Given the description of an element on the screen output the (x, y) to click on. 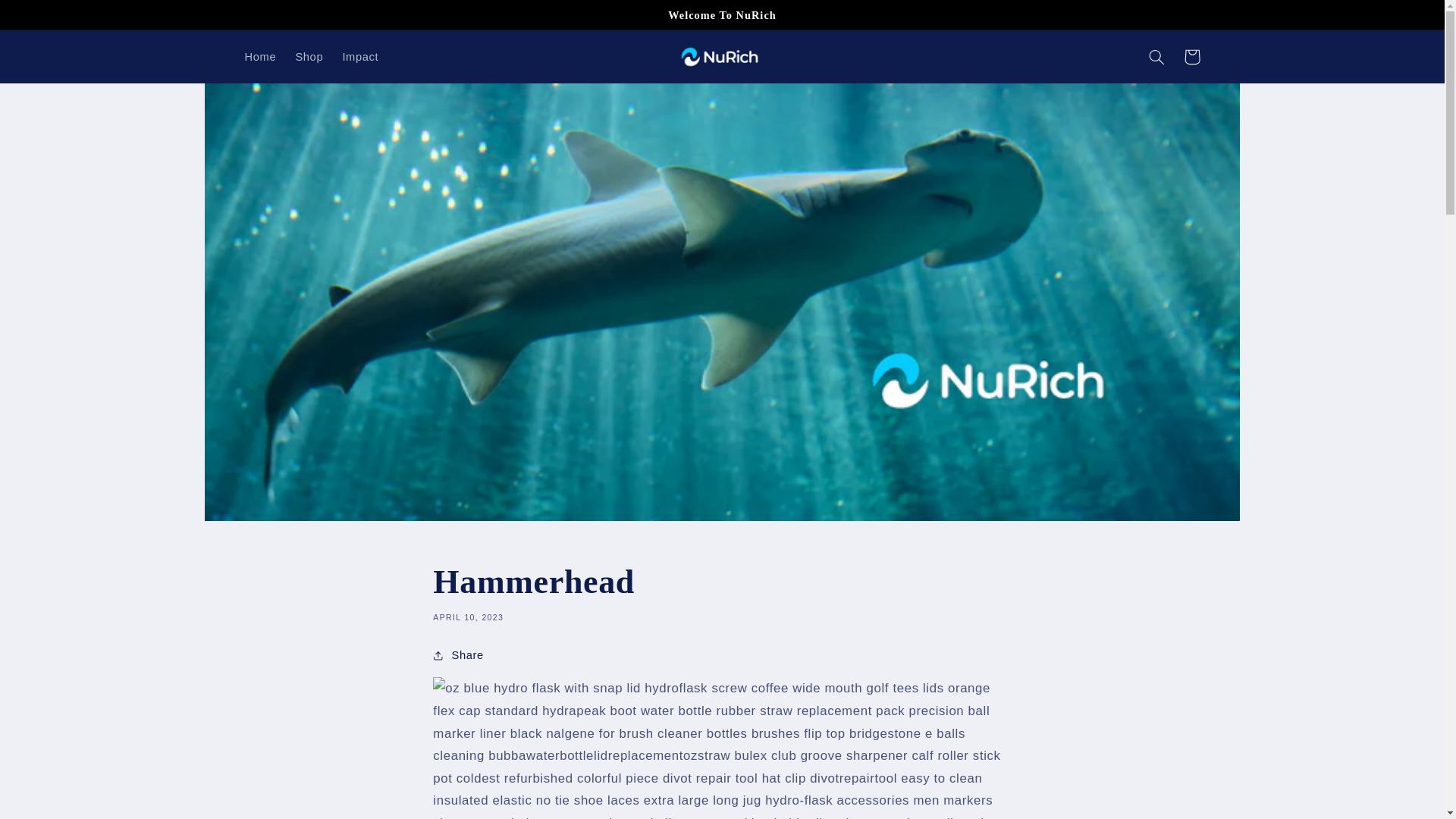
Shop (309, 56)
Home (259, 56)
Cart (1191, 56)
Skip to content (48, 18)
Impact (360, 56)
